Given the description of an element on the screen output the (x, y) to click on. 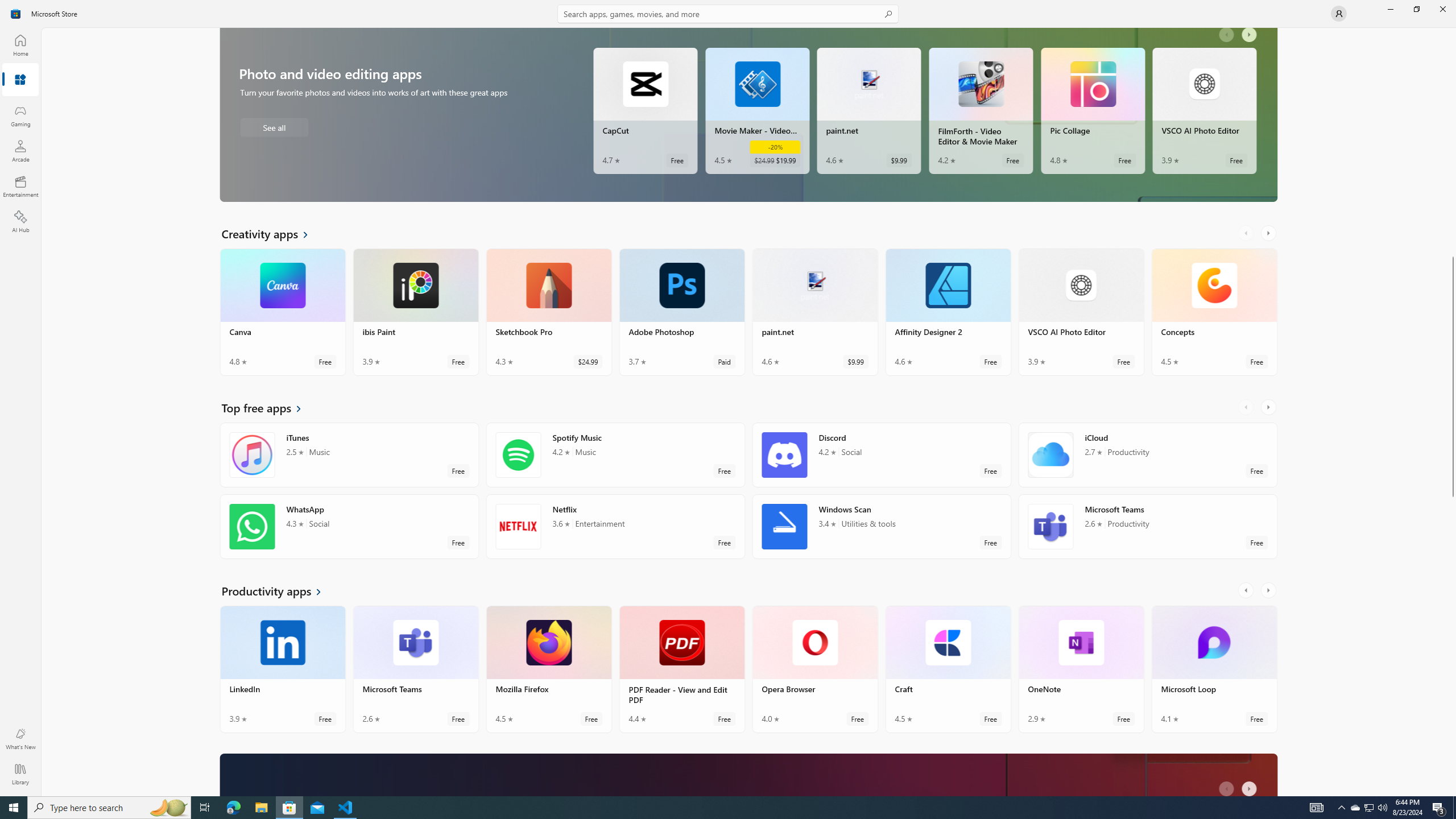
Entertainment (20, 185)
Netflix. Average rating of 3.6 out of five stars. Free   (615, 526)
AI Hub (20, 221)
Restore Microsoft Store (1416, 9)
Close Microsoft Store (1442, 9)
iCloud. Average rating of 2.7 out of five stars. Free   (1146, 454)
Class: Image (15, 13)
AutomationID: NavigationControl (728, 398)
See all  Productivity apps (277, 590)
Vertical (1452, 412)
AutomationID: LeftScrollButton (1227, 784)
iTunes. Average rating of 2.5 out of five stars. Free   (349, 454)
